Given the description of an element on the screen output the (x, y) to click on. 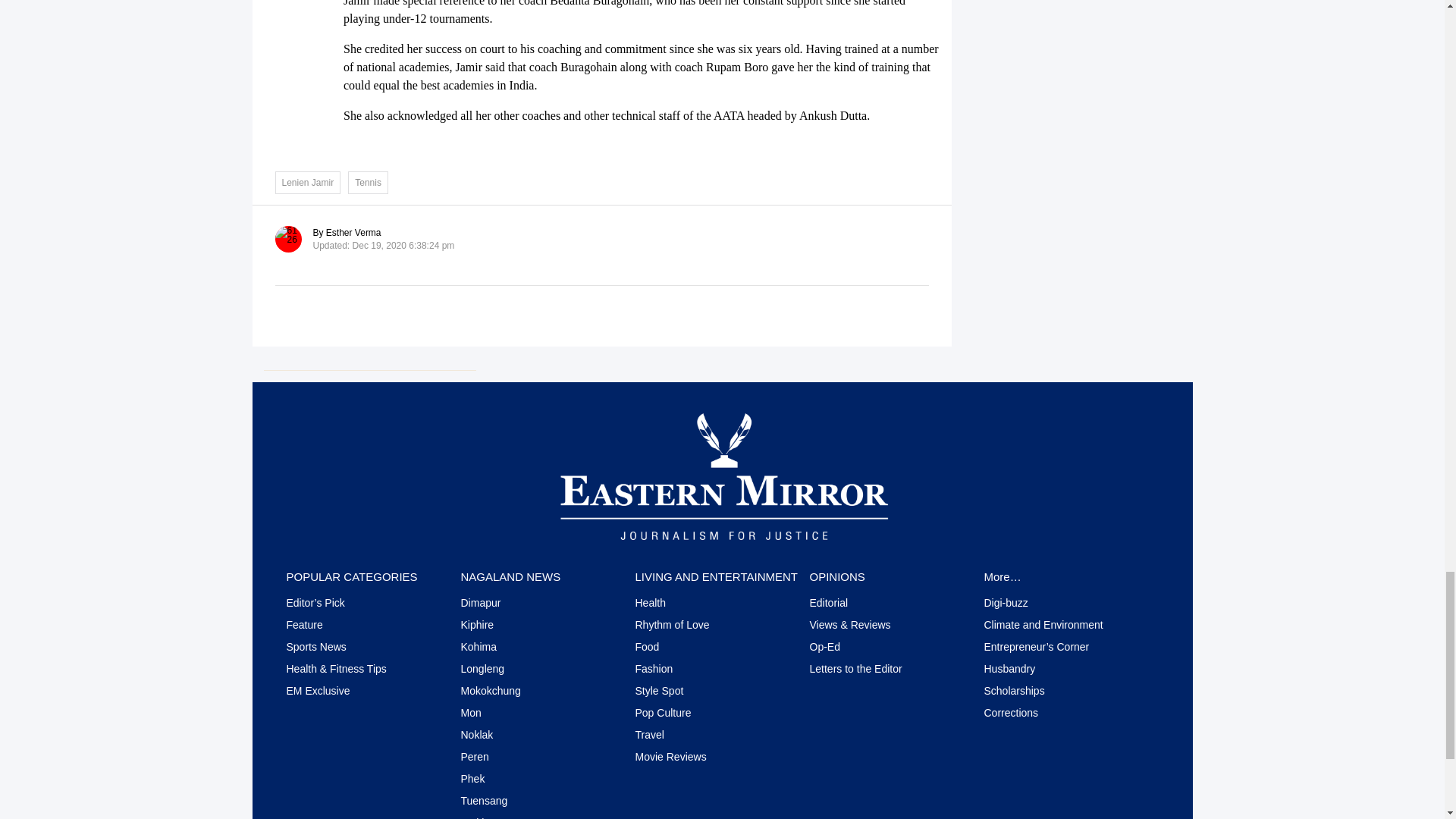
Eastern Mirror (721, 474)
